Given the description of an element on the screen output the (x, y) to click on. 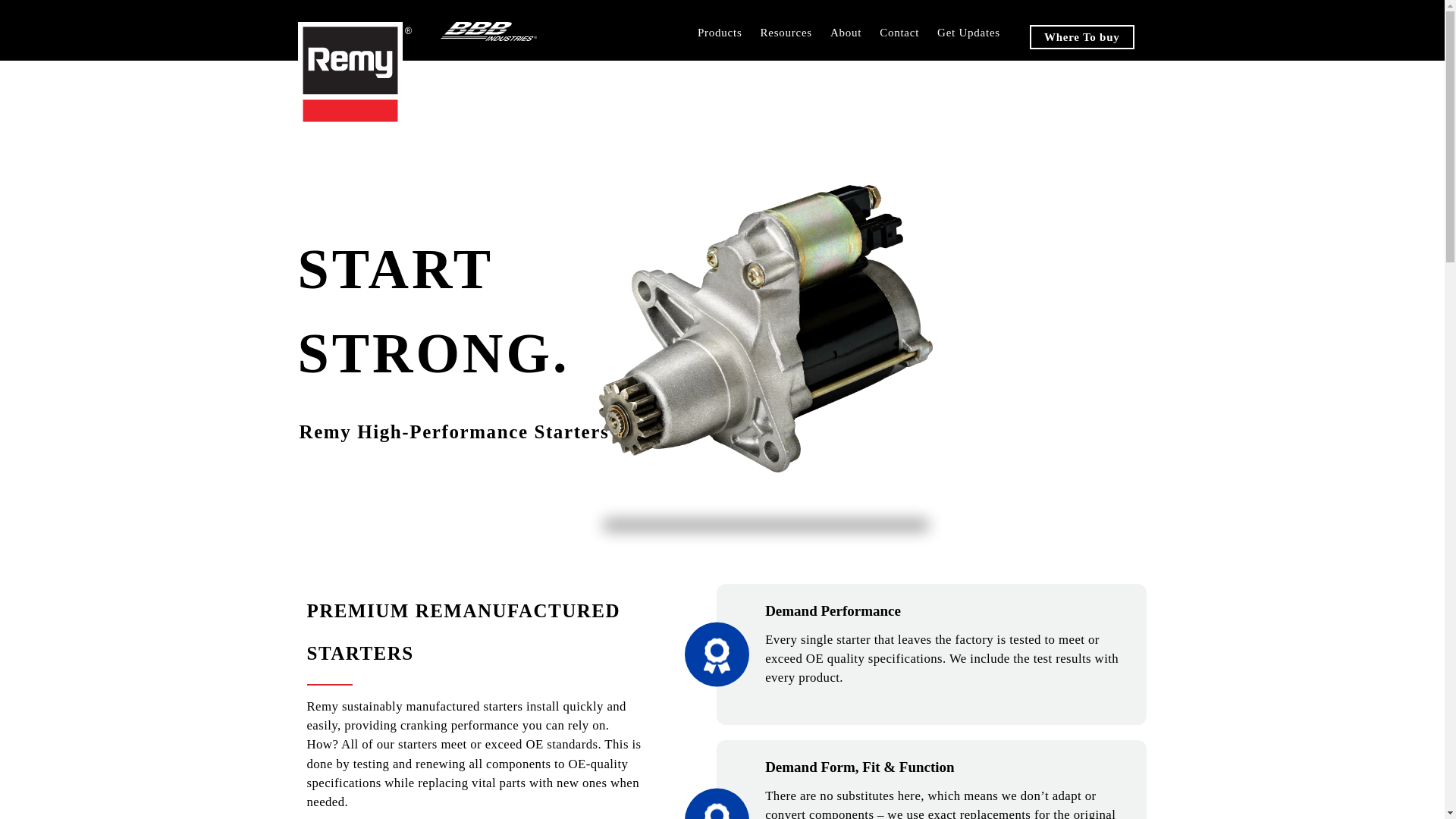
Products (719, 32)
Get Updates (968, 32)
Where To buy (1081, 37)
About (845, 32)
About (845, 32)
Products (719, 32)
Resources (785, 32)
Contact (898, 32)
Contact (898, 32)
Where To buy (1081, 37)
